Given the description of an element on the screen output the (x, y) to click on. 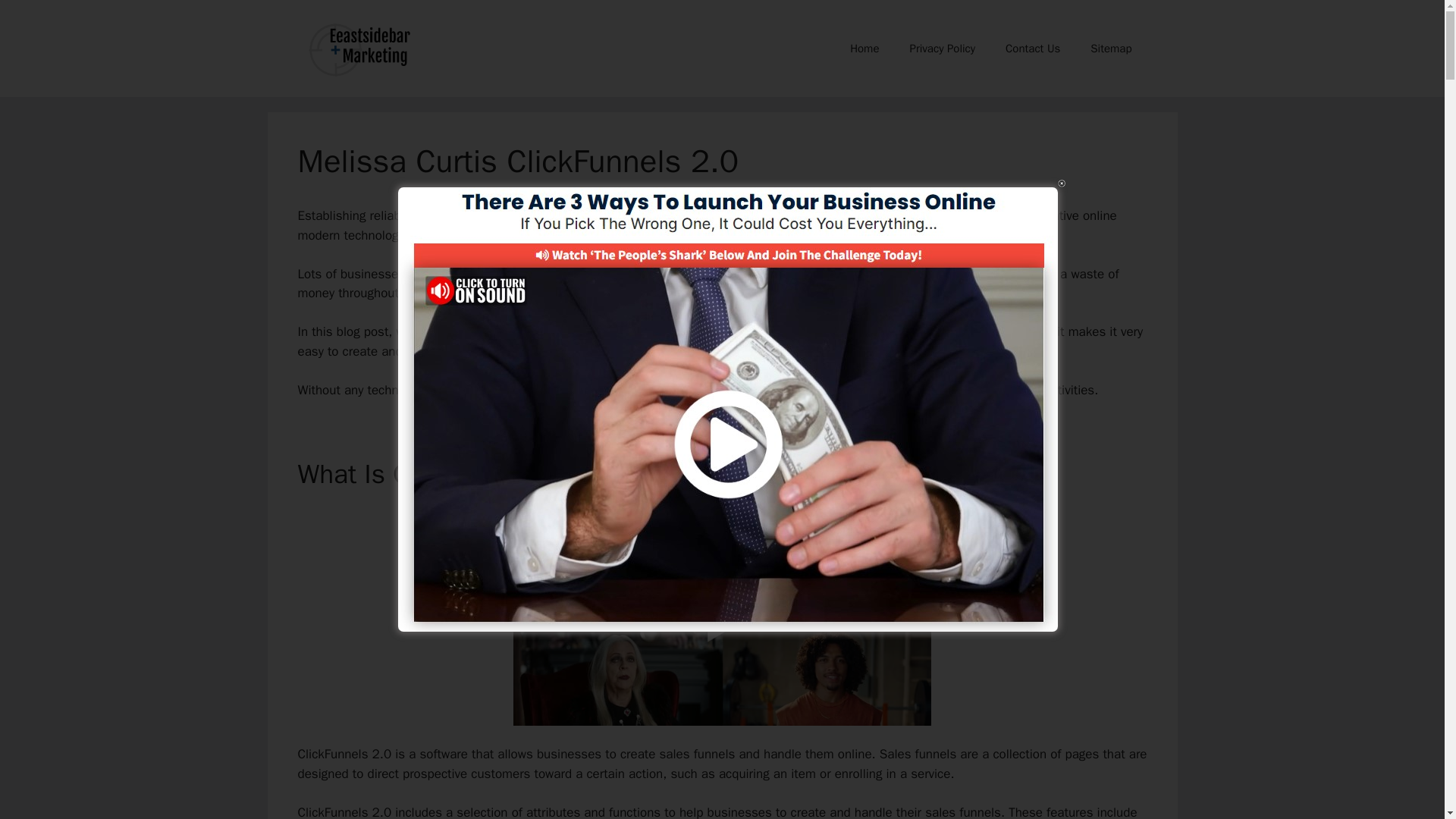
Home (863, 48)
Contact Us (1032, 48)
Sitemap (1111, 48)
Privacy Policy (941, 48)
